Given the description of an element on the screen output the (x, y) to click on. 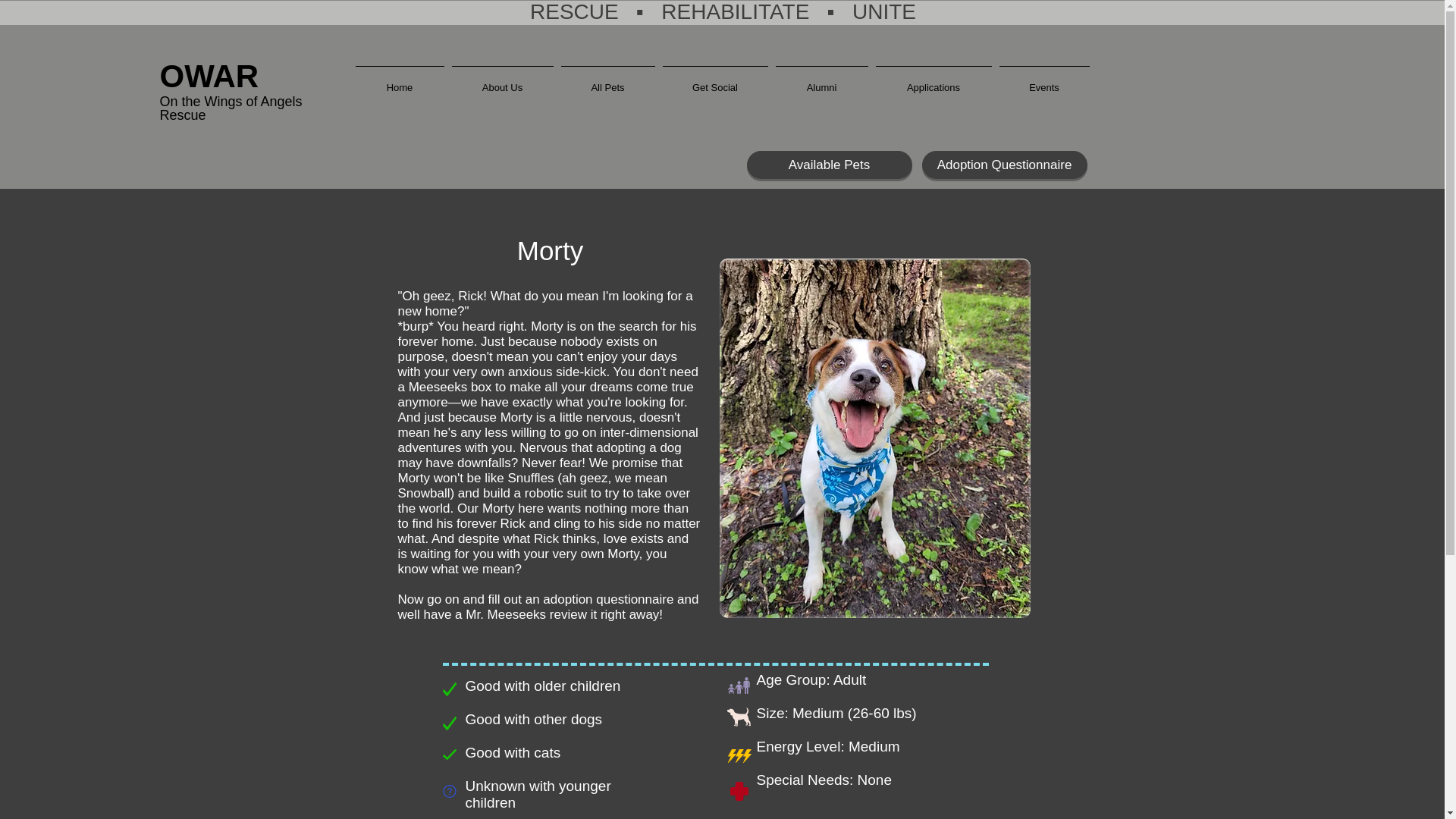
Get Social (714, 80)
On the Wings of Angels Rescue (229, 108)
All Pets (607, 80)
Home (400, 80)
OWAR (208, 76)
Available Pets (828, 164)
Adoption Questionnaire (1004, 164)
Events (1043, 80)
Alumni (821, 80)
